Given the description of an element on the screen output the (x, y) to click on. 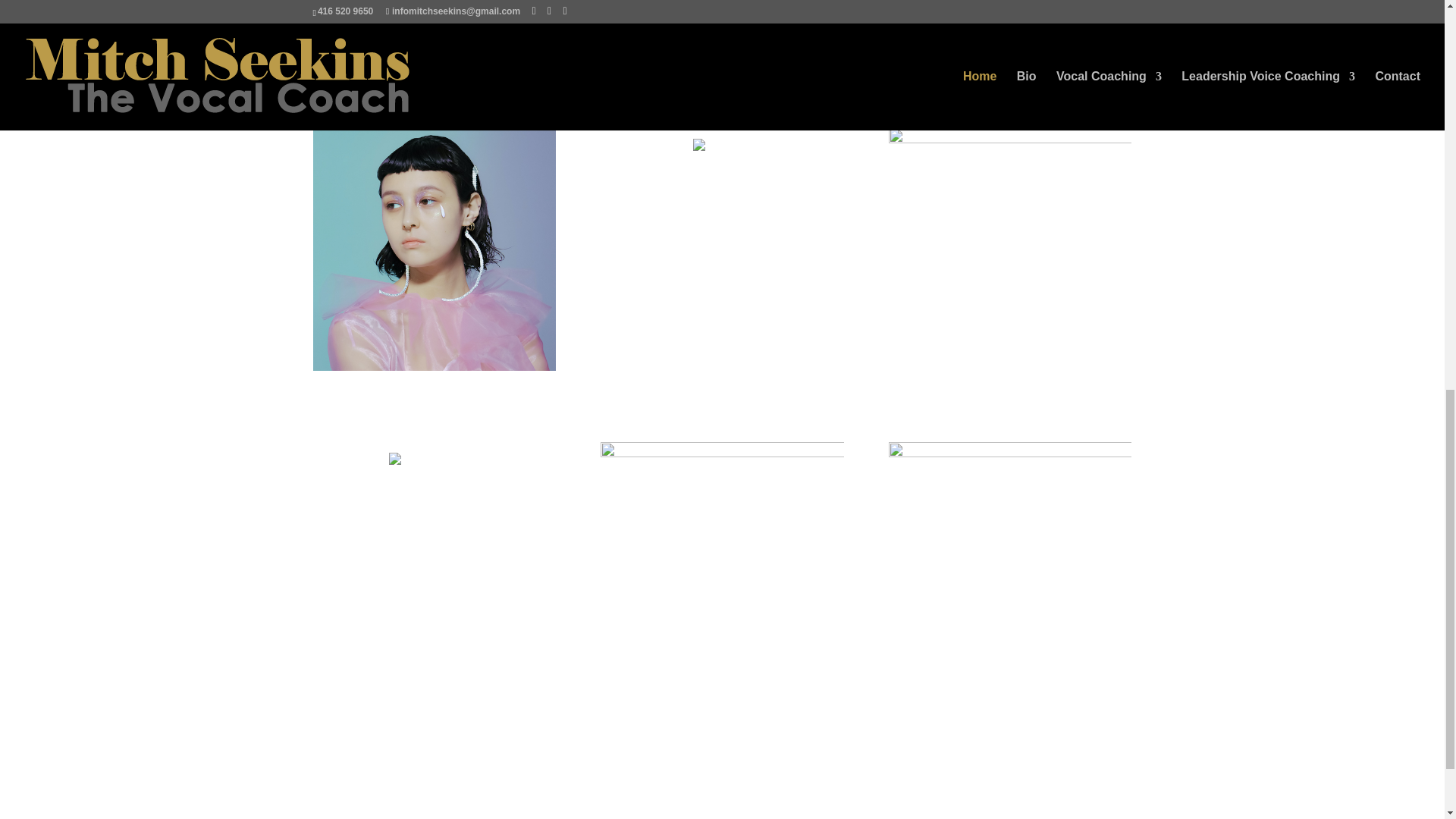
Follow on Youtube (430, 768)
Follow on Instagram (464, 768)
Follow on Facebook (397, 768)
